Given the description of an element on the screen output the (x, y) to click on. 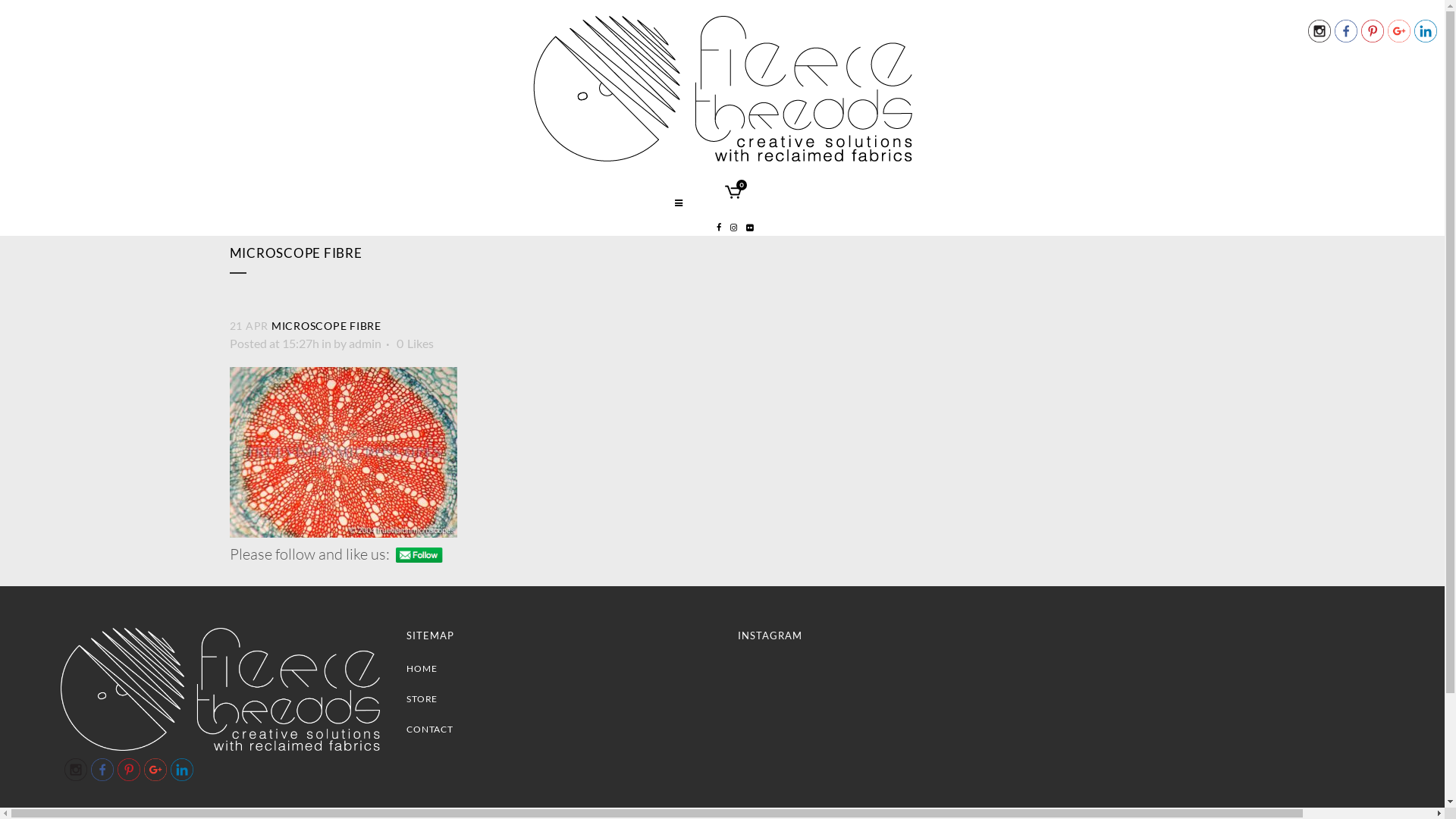
Facebook Element type: hover (1345, 30)
Google+ Element type: hover (1398, 30)
Facebook Element type: hover (102, 769)
HOME Element type: text (560, 668)
0 Element type: text (732, 193)
Instagram Element type: hover (75, 769)
STORE Element type: text (560, 698)
Instagram Element type: hover (1319, 30)
admin Element type: text (364, 342)
Pinterest Element type: hover (128, 769)
LinkedIn Element type: hover (1425, 30)
0 Likes Element type: text (414, 343)
Pinterest Element type: hover (1372, 30)
LinkedIn Element type: hover (181, 769)
CONTACT Element type: text (560, 728)
Google+ Element type: hover (155, 769)
